Given the description of an element on the screen output the (x, y) to click on. 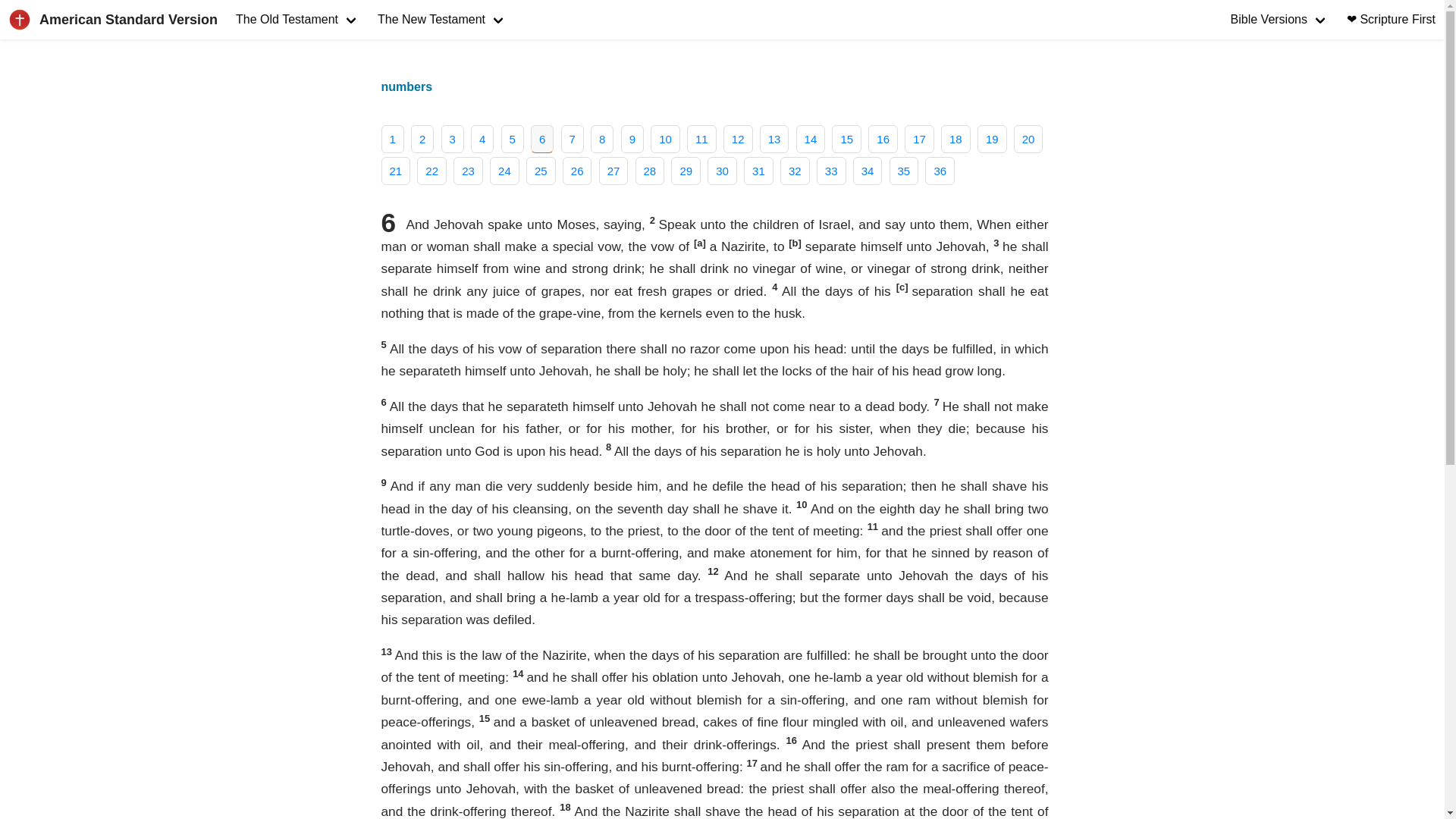
American Standard Version (113, 19)
